Given the description of an element on the screen output the (x, y) to click on. 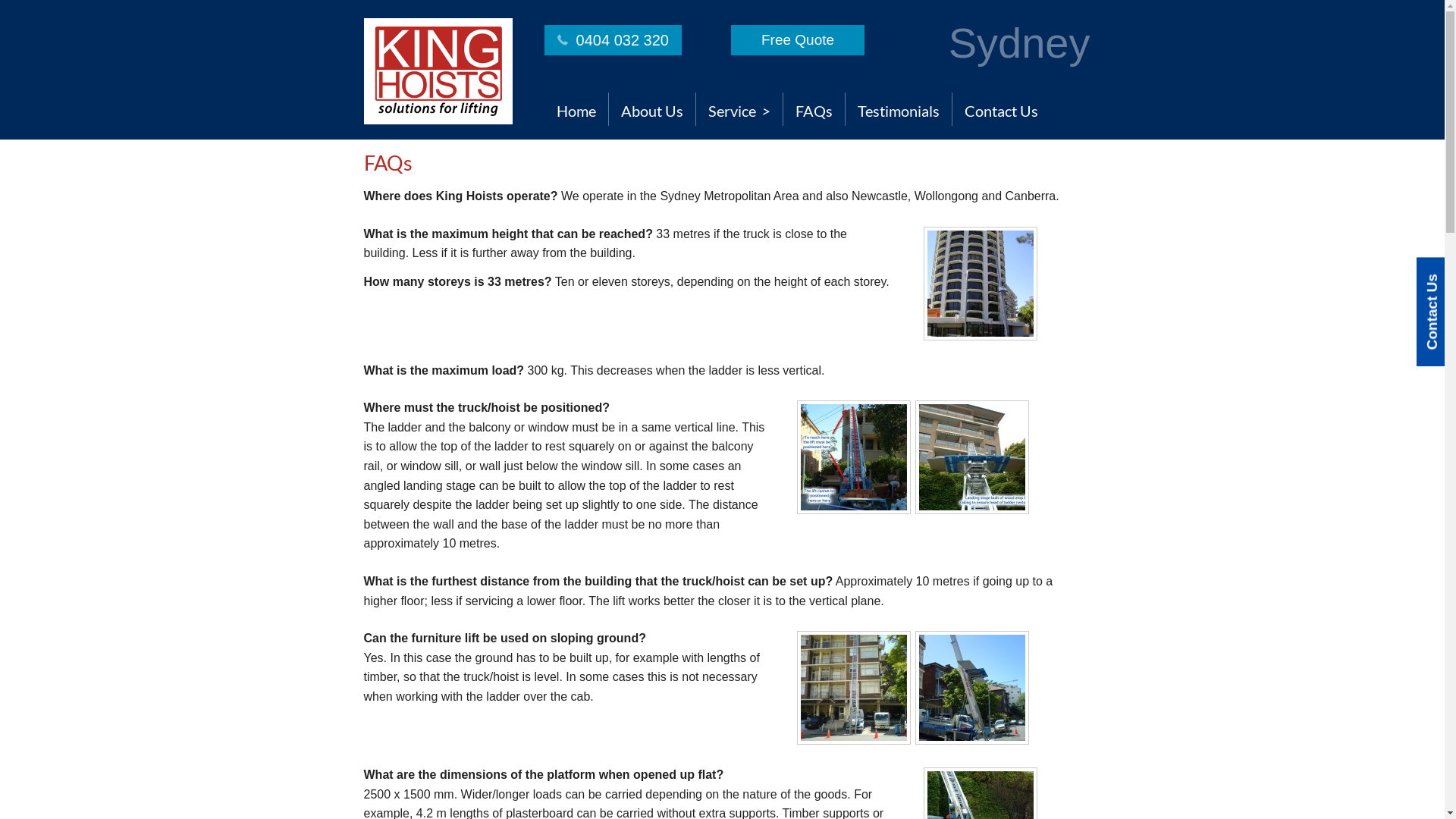
Service  > Element type: text (739, 109)
FAQs Element type: text (813, 109)
Testimonials Element type: text (897, 109)
Contact Us Element type: text (1001, 109)
 0404 032 320 Element type: text (612, 40)
Free Quote Element type: text (797, 40)
About Us Element type: text (651, 109)
Home Element type: text (576, 109)
